Given the description of an element on the screen output the (x, y) to click on. 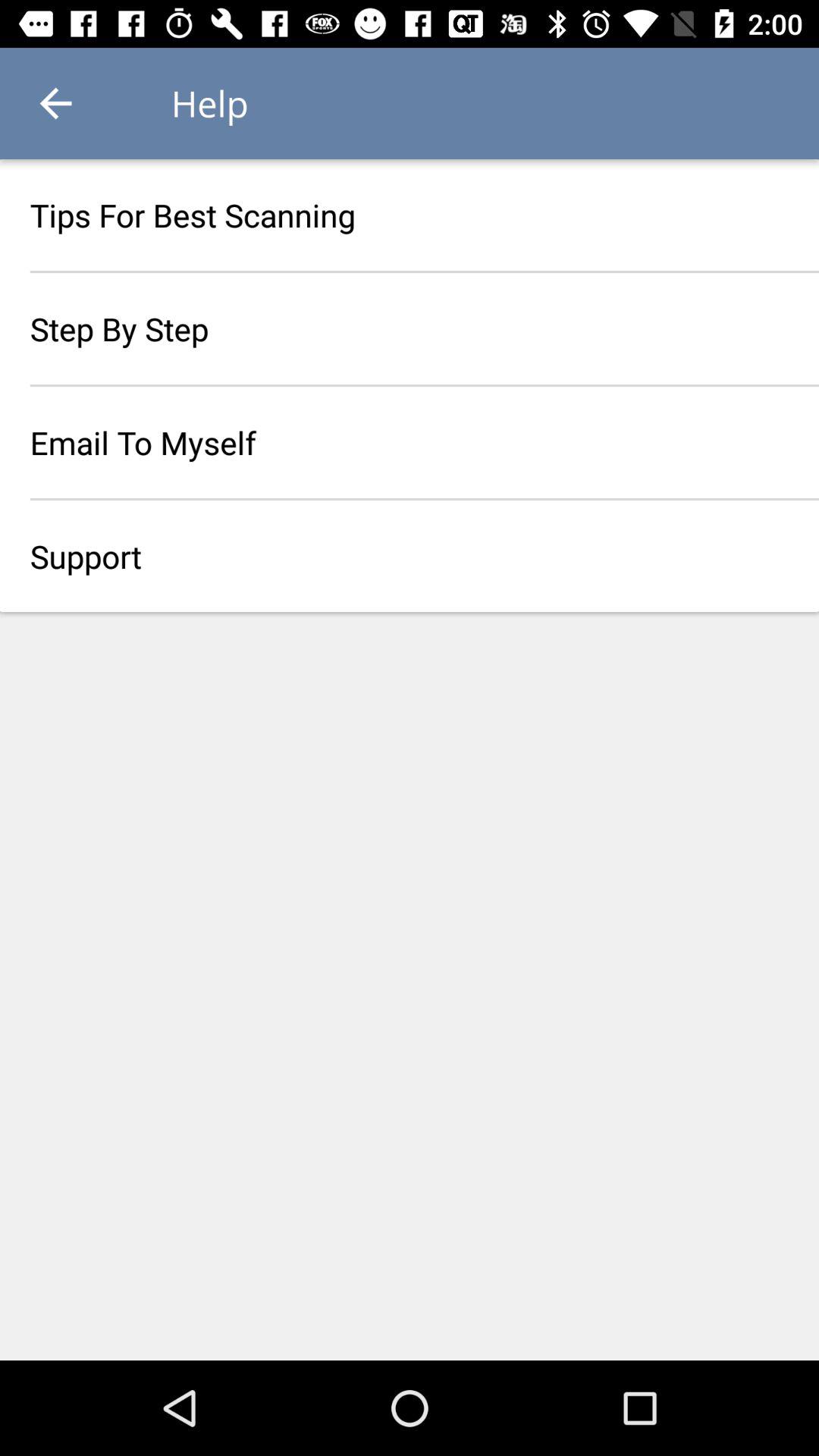
turn off the step by step item (409, 328)
